Given the description of an element on the screen output the (x, y) to click on. 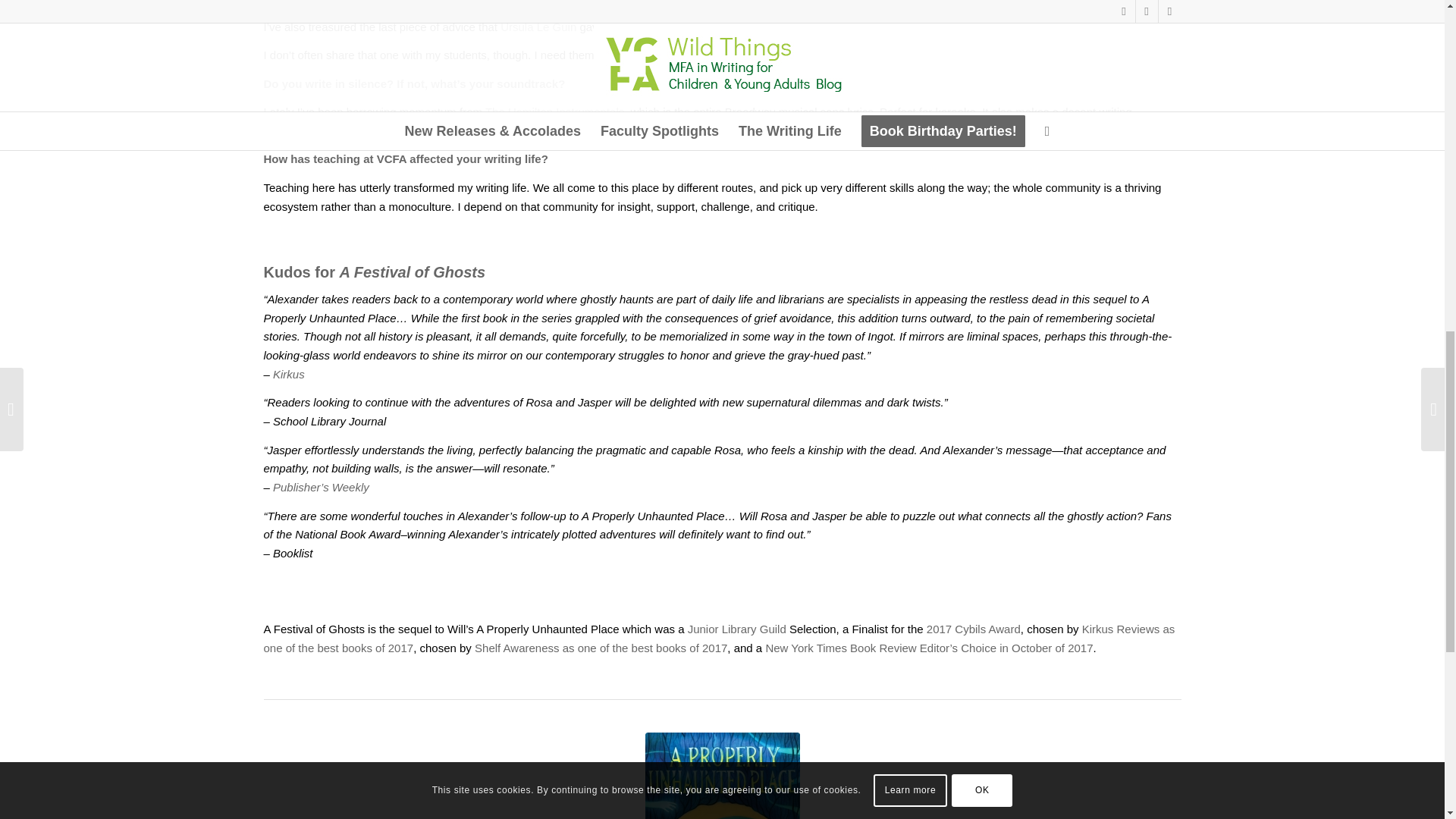
Kirkus (288, 373)
Kelly Link (288, 2)
Ursula Le Guin (538, 25)
2017 Cybils Award (973, 628)
The Hamilton Instrumentals (554, 111)
Junior Library Guild (736, 628)
Kirkus Reviews as one of the best books of 2017 (718, 638)
Shelf Awareness as one of the best books of 2017 (600, 647)
